Given the description of an element on the screen output the (x, y) to click on. 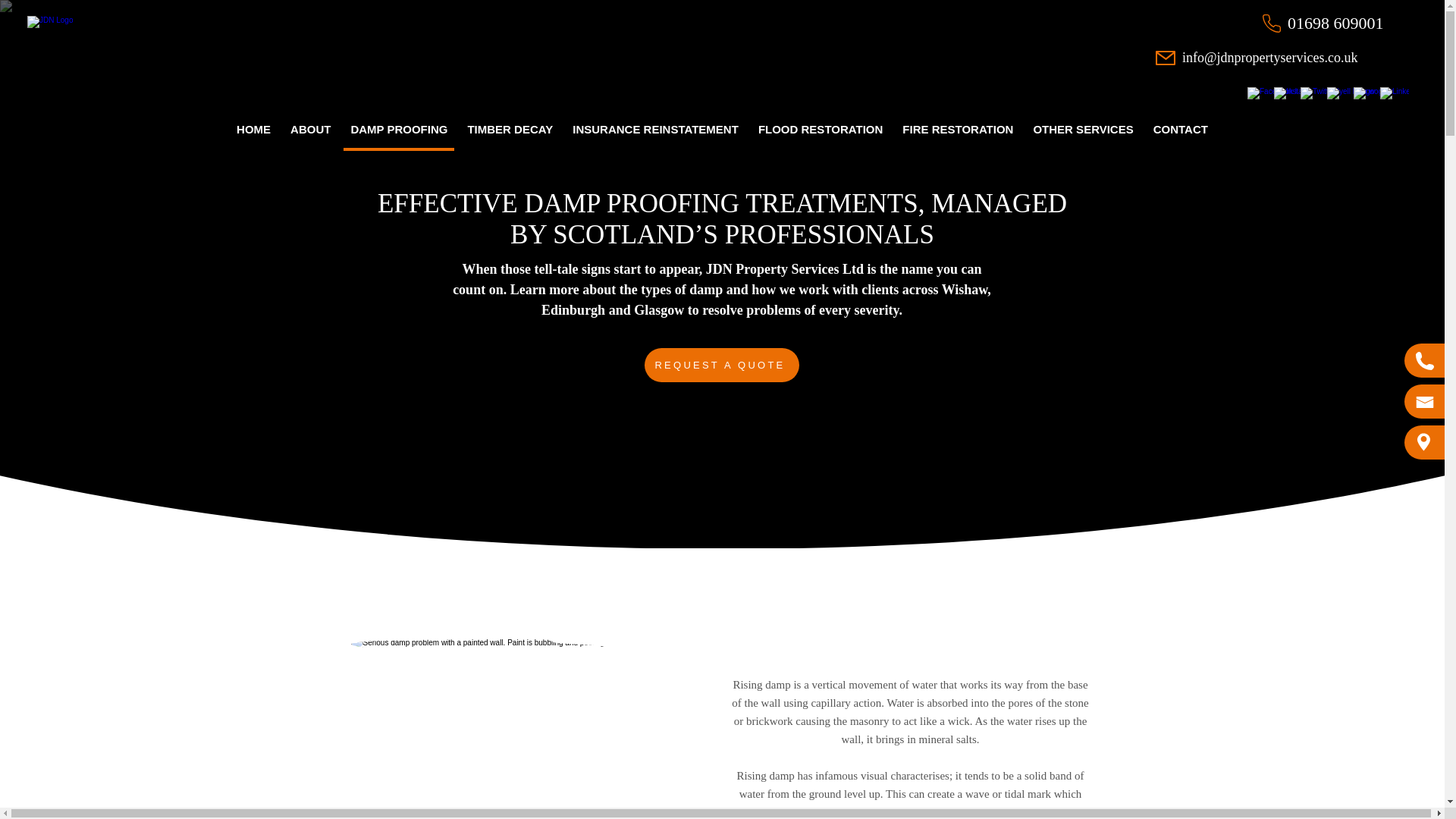
FLOOD RESTORATION (820, 130)
TIMBER DECAY (509, 130)
ABOUT (310, 130)
REQUEST A QUOTE (722, 365)
INSURANCE REINSTATEMENT (655, 130)
CONTACT (1180, 130)
DAMP PROOFING (398, 130)
FIRE RESTORATION (957, 130)
01698 609001 (1335, 22)
HOME (254, 130)
